Given the description of an element on the screen output the (x, y) to click on. 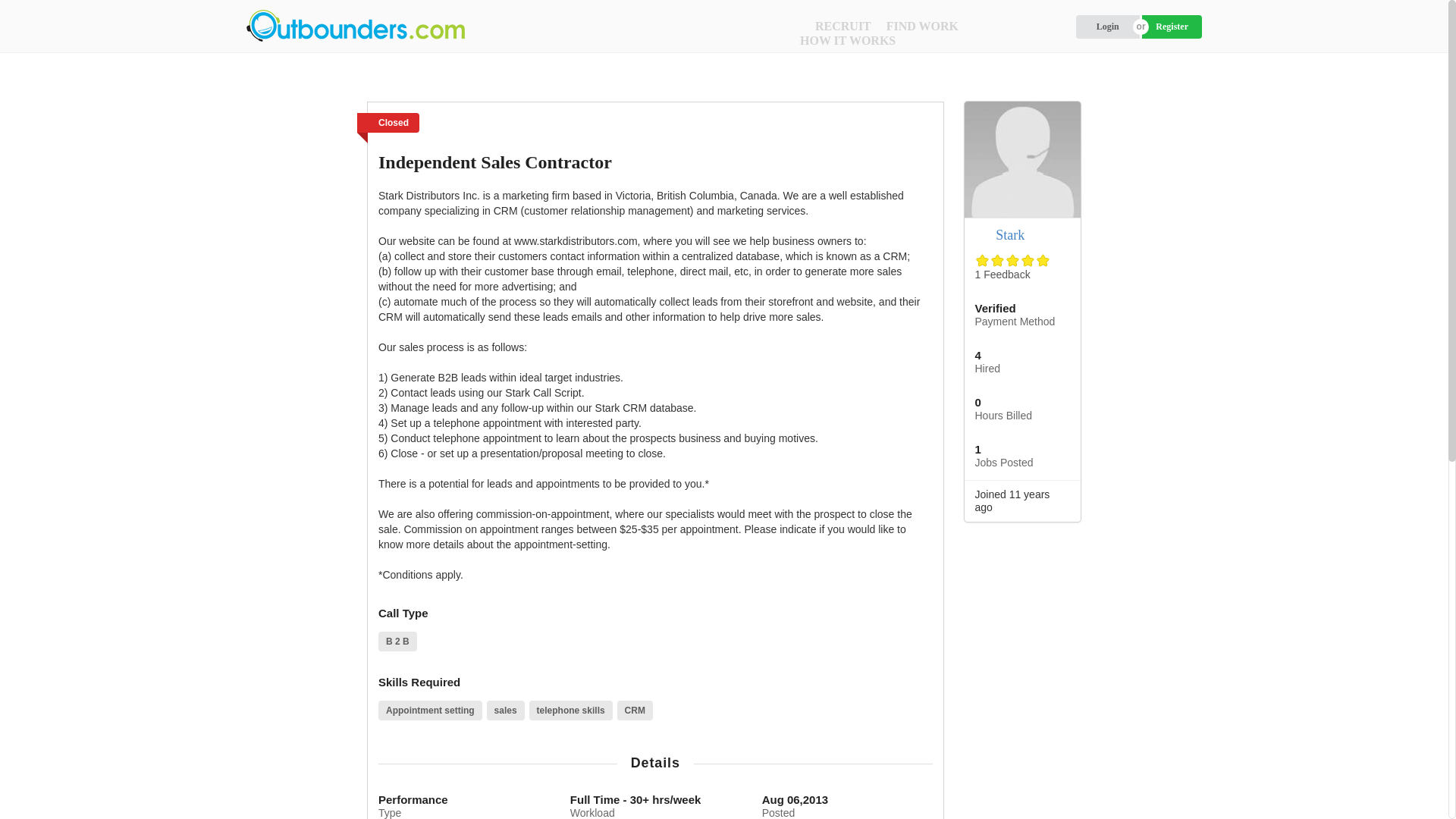
FIND WORK (922, 25)
HOW IT WORKS (847, 40)
Live Chat Button (1417, 788)
RECRUIT (842, 25)
Register (1171, 26)
   Login    (1107, 26)
Stark (1010, 234)
